Given the description of an element on the screen output the (x, y) to click on. 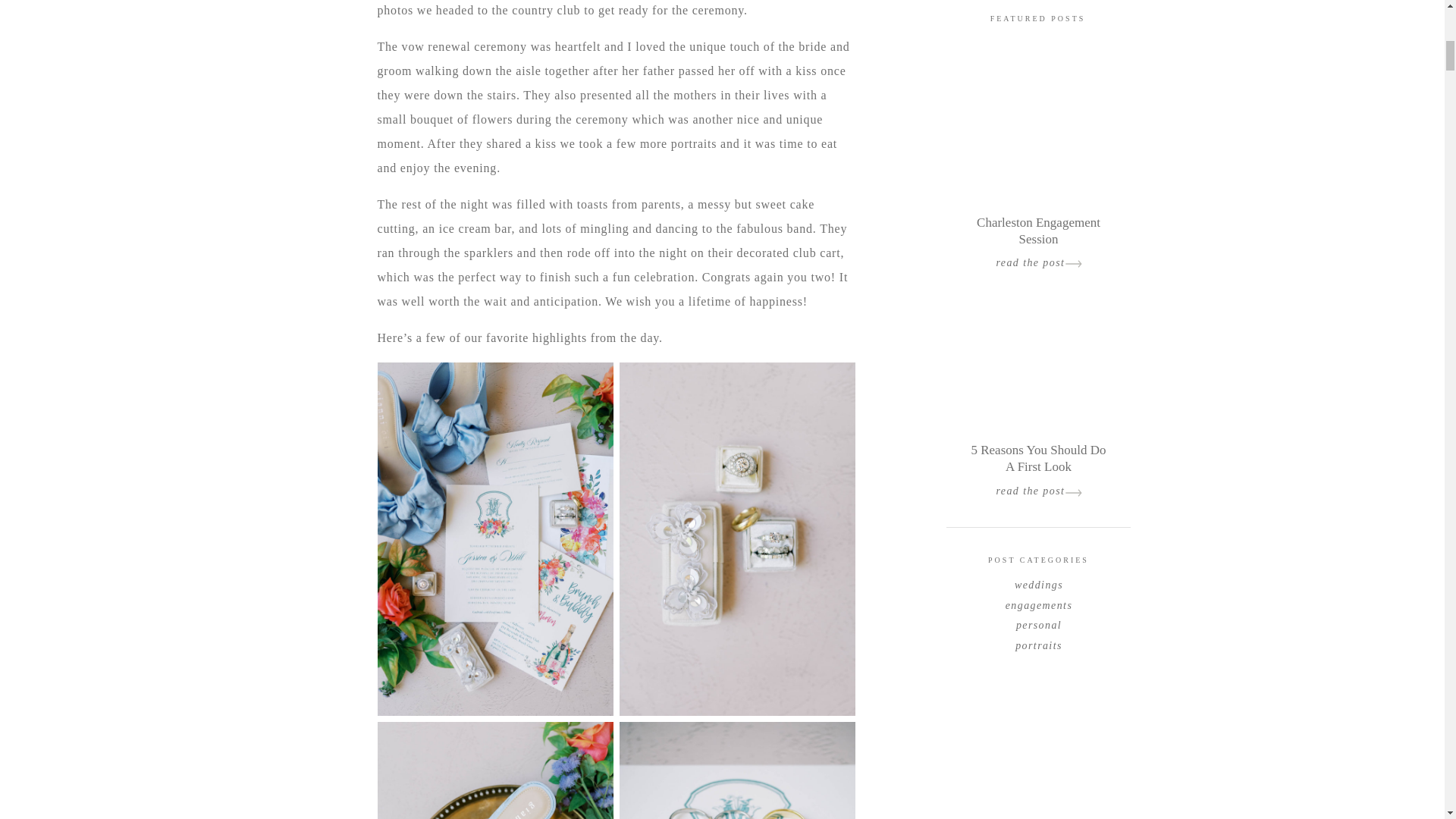
engagements (1038, 602)
read the post (1037, 487)
Charleston Engagement Session (1038, 223)
personal (1038, 622)
5 Reasons You Should Do A First Look (1038, 459)
read the post (1037, 263)
weddings (1038, 582)
portraits (1038, 643)
